Given the description of an element on the screen output the (x, y) to click on. 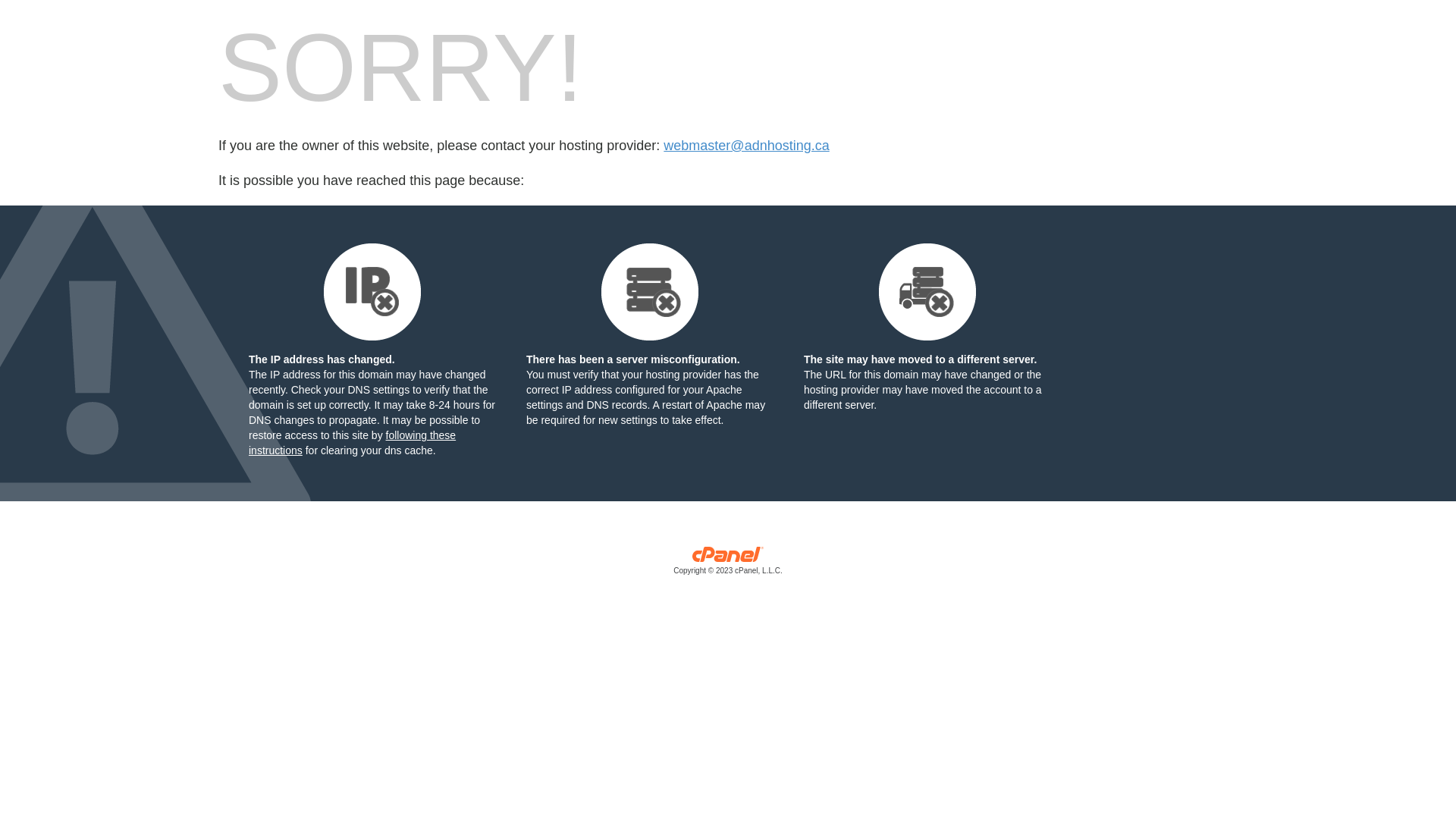
following these instructions Element type: text (351, 442)
webmaster@adnhosting.ca Element type: text (745, 145)
